Given the description of an element on the screen output the (x, y) to click on. 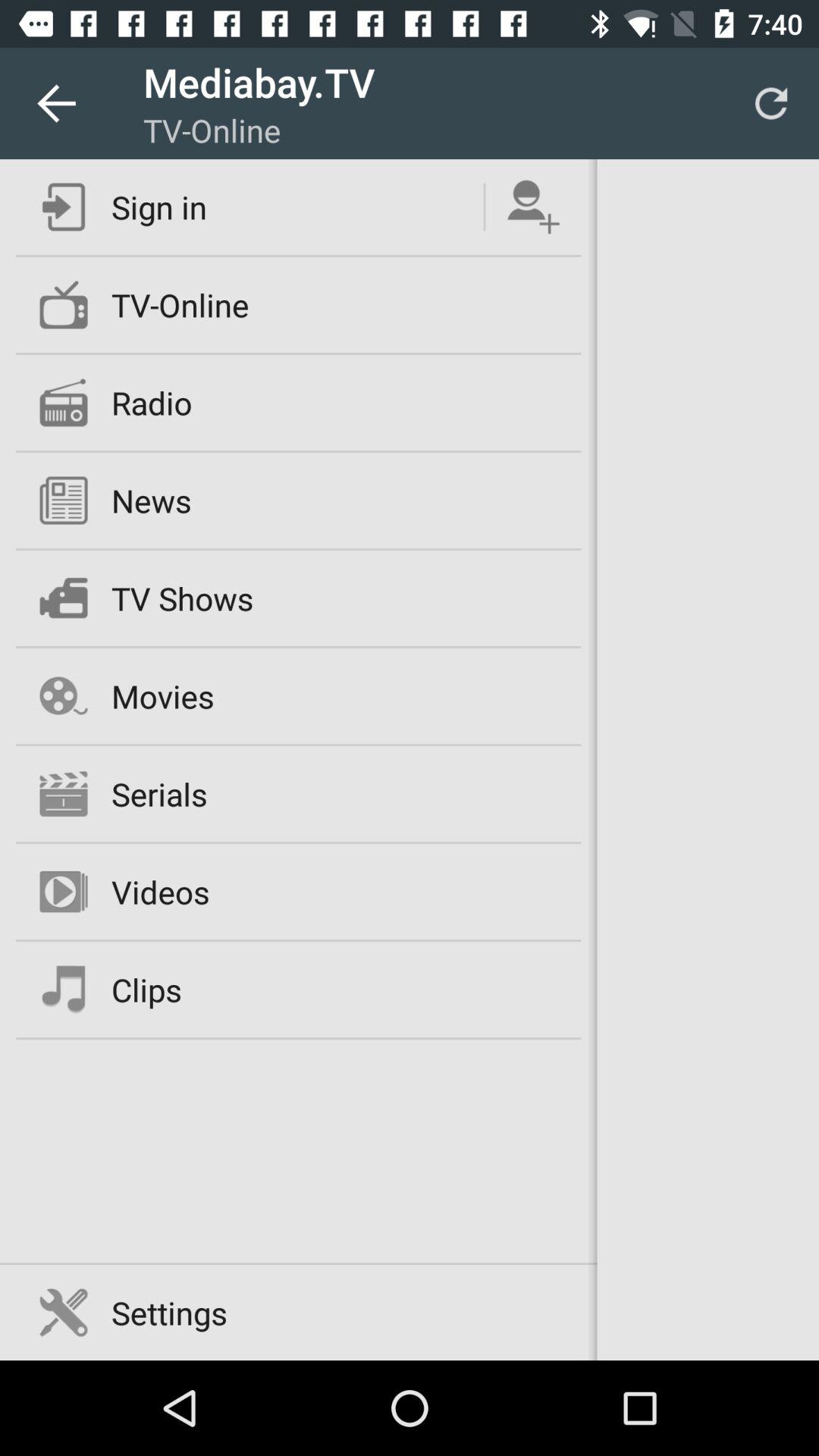
jump until clips icon (146, 989)
